Given the description of an element on the screen output the (x, y) to click on. 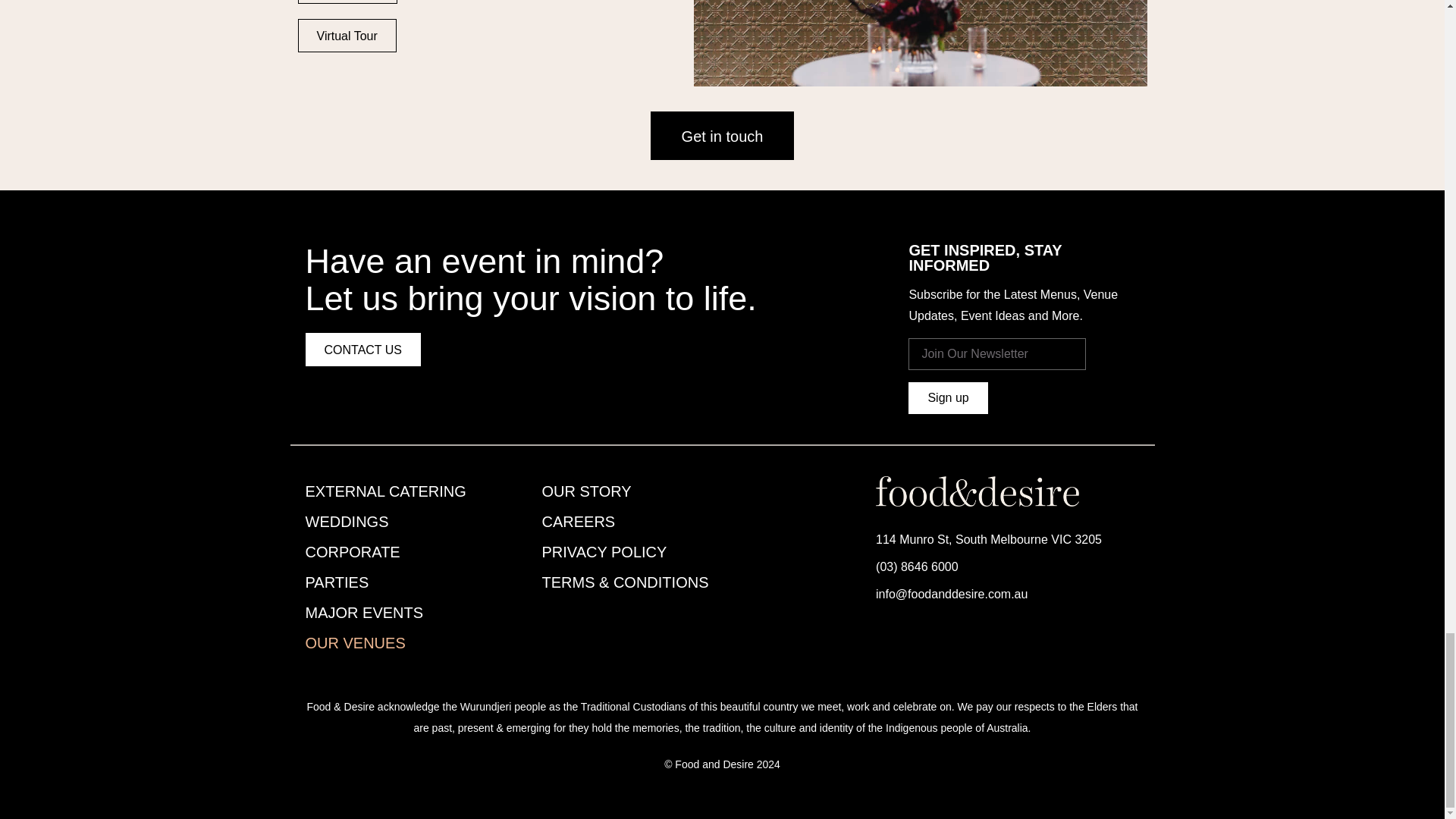
Sign up (947, 398)
